Given the description of an element on the screen output the (x, y) to click on. 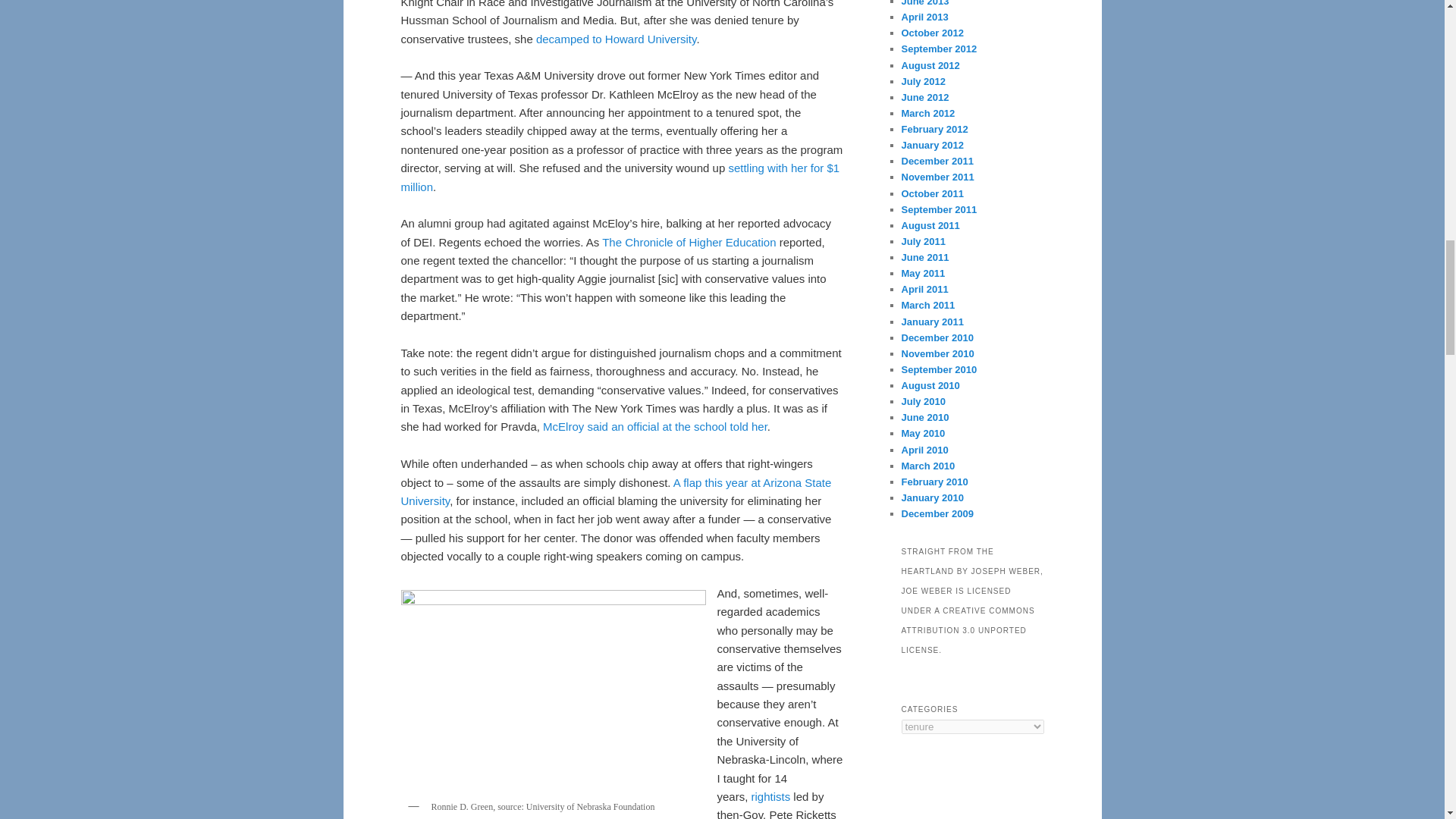
McElroy said an official at the school told her (655, 426)
rightists (770, 796)
A flap this year at Arizona State University (615, 490)
The Chronicle of Higher Education (689, 241)
decamped to Howard University (615, 38)
